Given the description of an element on the screen output the (x, y) to click on. 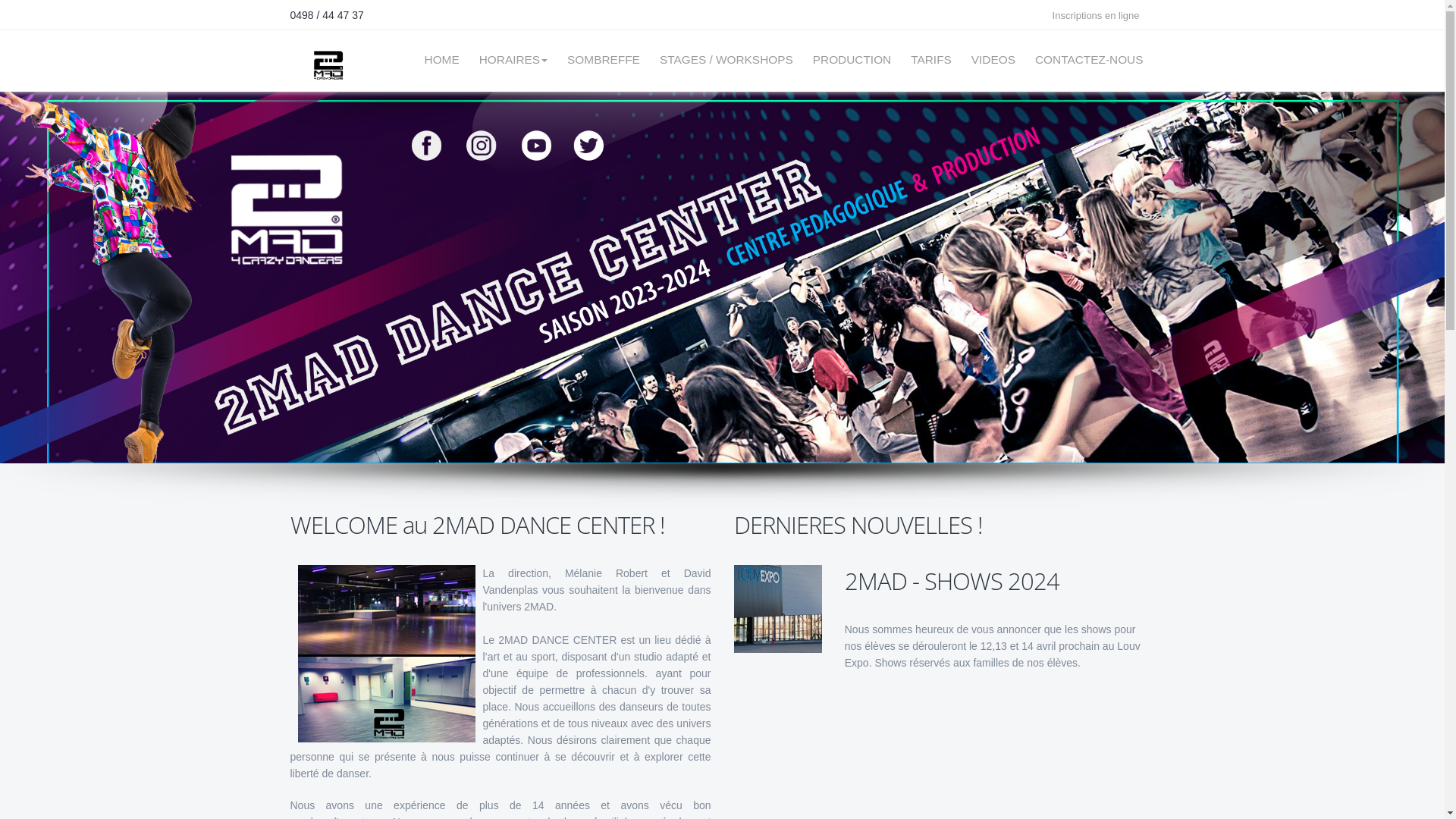
TARIFS Element type: text (931, 59)
2MAD - SHOWS 2024 Element type: text (999, 580)
PRODUCTION Element type: text (851, 59)
HORAIRES Element type: text (512, 59)
VIDEOS Element type: text (993, 59)
Inscriptions en ligne Element type: text (1099, 15)
STAGES / WORKSHOPS Element type: text (726, 59)
CONTACTEZ-NOUS Element type: text (1083, 59)
HOME Element type: text (441, 59)
SOMBREFFE Element type: text (603, 59)
